Given the description of an element on the screen output the (x, y) to click on. 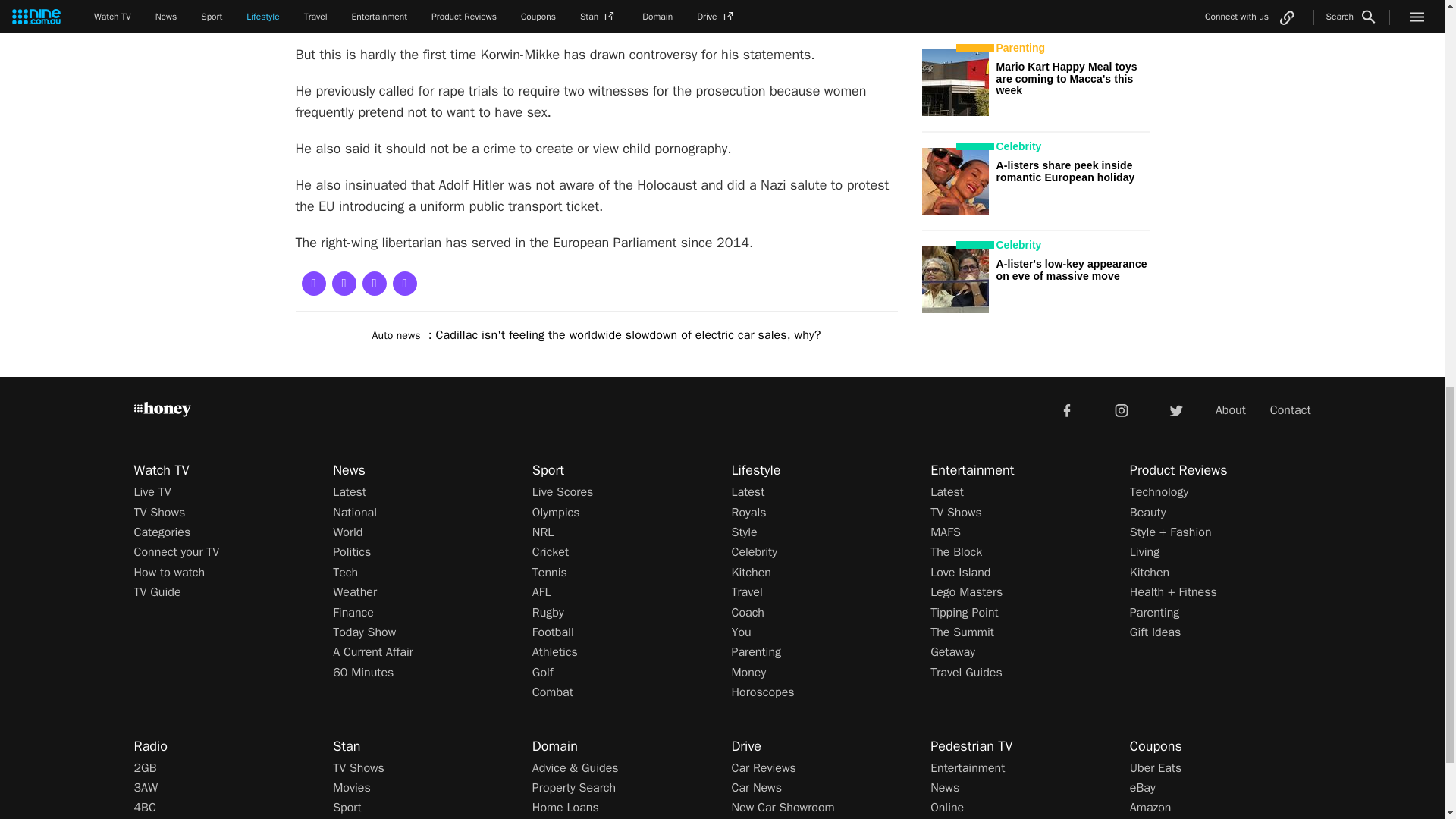
twitter (1175, 409)
Watch TV (161, 469)
instagram (1121, 409)
facebook (1066, 409)
Live TV (151, 491)
Contact (1290, 409)
About (1230, 409)
